Given the description of an element on the screen output the (x, y) to click on. 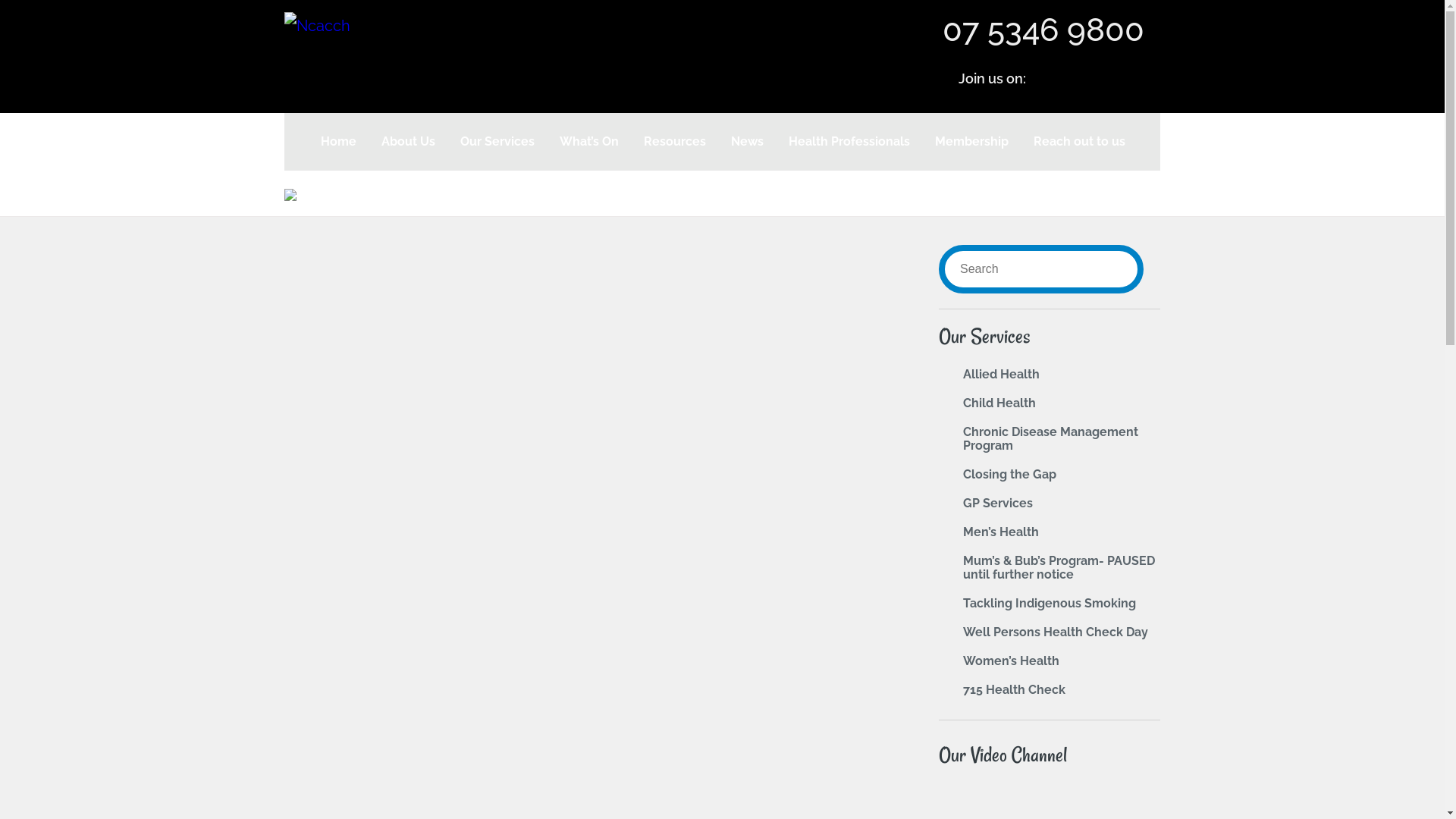
Child Health Element type: text (999, 402)
GP Services Element type: text (997, 502)
Resources Element type: text (674, 141)
Youtube Element type: text (1097, 80)
715 Health Check Element type: text (1014, 689)
Home Element type: text (337, 141)
About Us Element type: text (407, 141)
Tackling Indigenous Smoking Element type: text (1049, 603)
Allied Health Element type: text (1001, 374)
Chronic Disease Management Program Element type: text (1050, 438)
Our Services Element type: text (496, 141)
Facebook Element type: text (1056, 80)
Ncacch Element type: hover (317, 25)
Well Persons Health Check Day Element type: text (1055, 631)
07 5346 9800 Element type: text (1043, 29)
Reach out to us Element type: text (1078, 141)
Closing the Gap Element type: text (1009, 474)
News Element type: text (746, 141)
Membership Element type: text (971, 141)
Health Professionals Element type: text (848, 141)
